Given the description of an element on the screen output the (x, y) to click on. 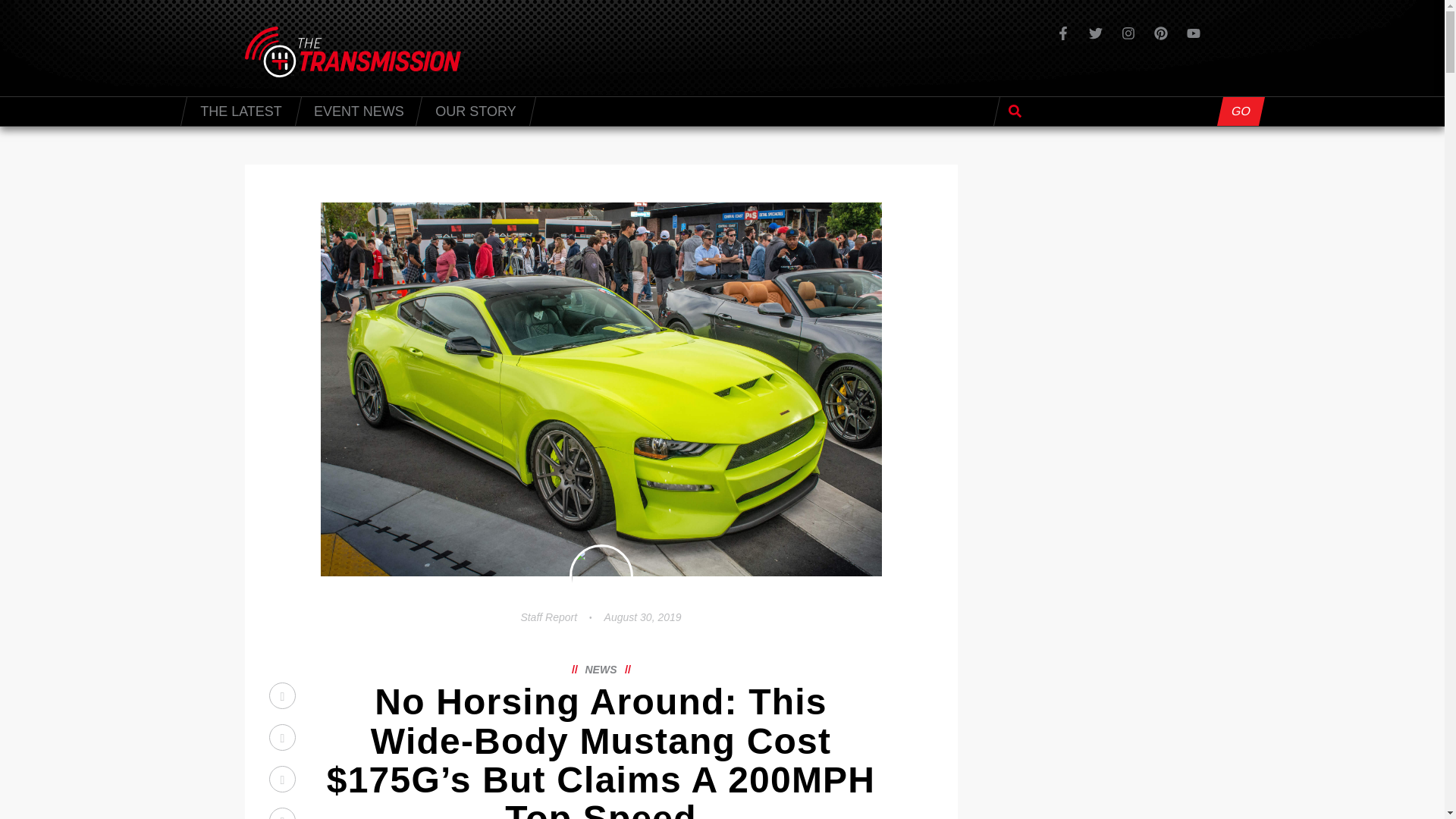
Go (1238, 111)
Go (1238, 111)
Event News (358, 111)
EVENT NEWS (358, 111)
Watch us on YouTube (1192, 33)
NEWS (601, 669)
The Transmission (190, 111)
Follow us on Instagram (1127, 33)
OUR STORY (475, 111)
Like us on Facebook (1061, 33)
Follow us on Pinterest (1160, 33)
News (601, 669)
Follow us on Twitter (1095, 33)
Our Story (475, 111)
THE LATEST (240, 111)
